Given the description of an element on the screen output the (x, y) to click on. 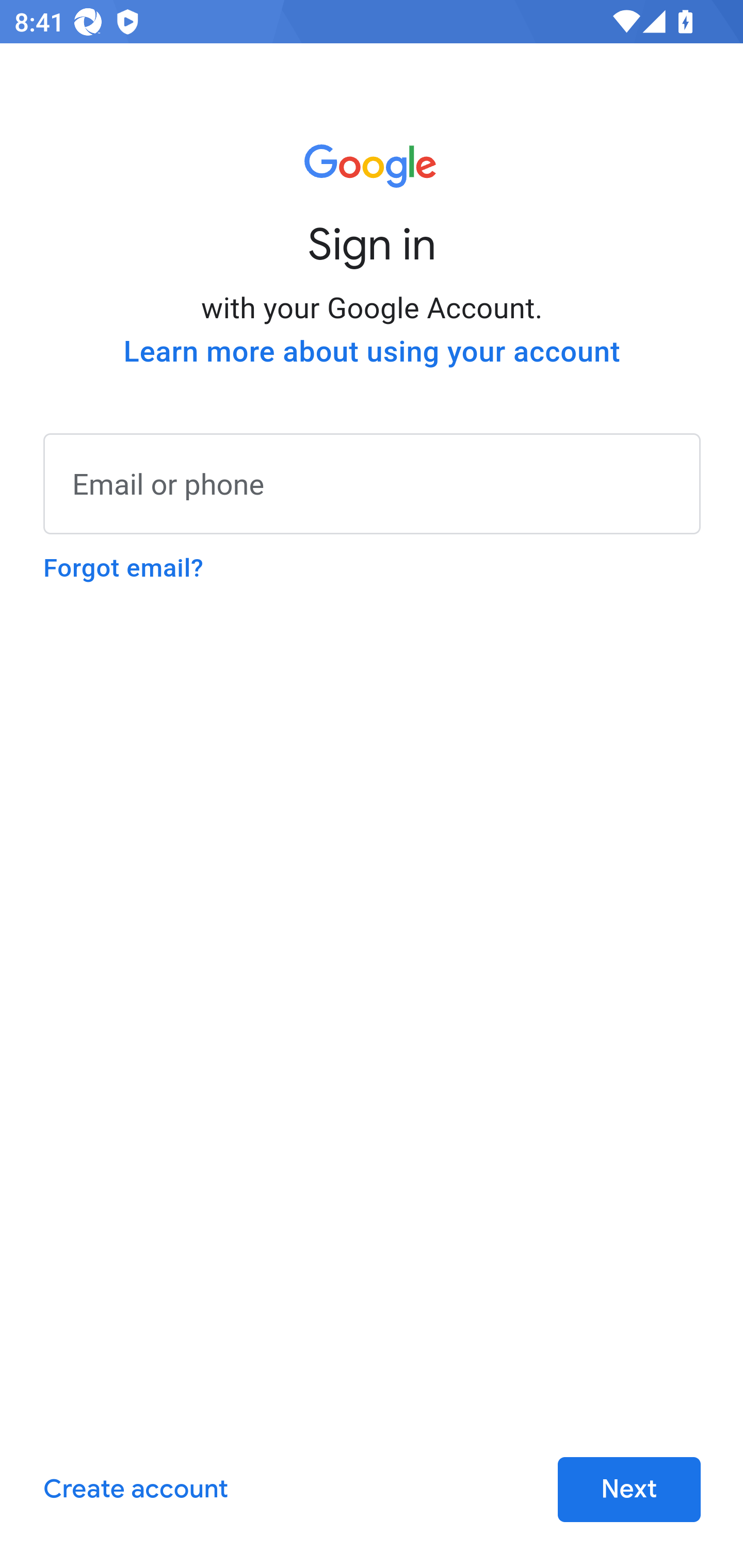
Learn more about using your account (371, 351)
Forgot email? (123, 568)
Create account (134, 1490)
Next (629, 1490)
